Given the description of an element on the screen output the (x, y) to click on. 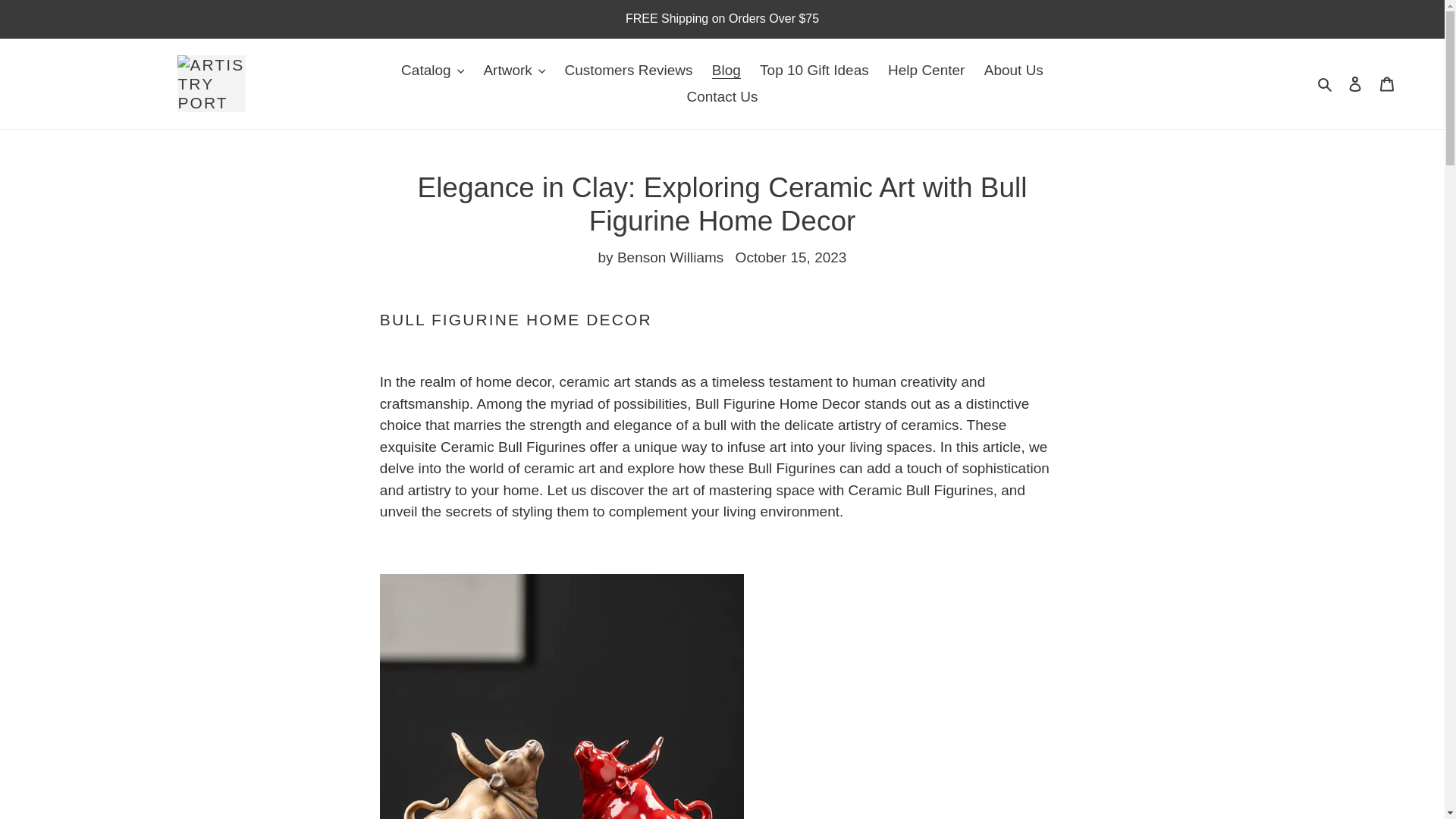
Artwork (514, 70)
Help Center (926, 70)
Customers Reviews (628, 70)
Search (1326, 83)
About Us (1013, 70)
Top 10 Gift Ideas (814, 70)
Catalog (432, 70)
Blog (726, 70)
Contact Us (722, 96)
